Given the description of an element on the screen output the (x, y) to click on. 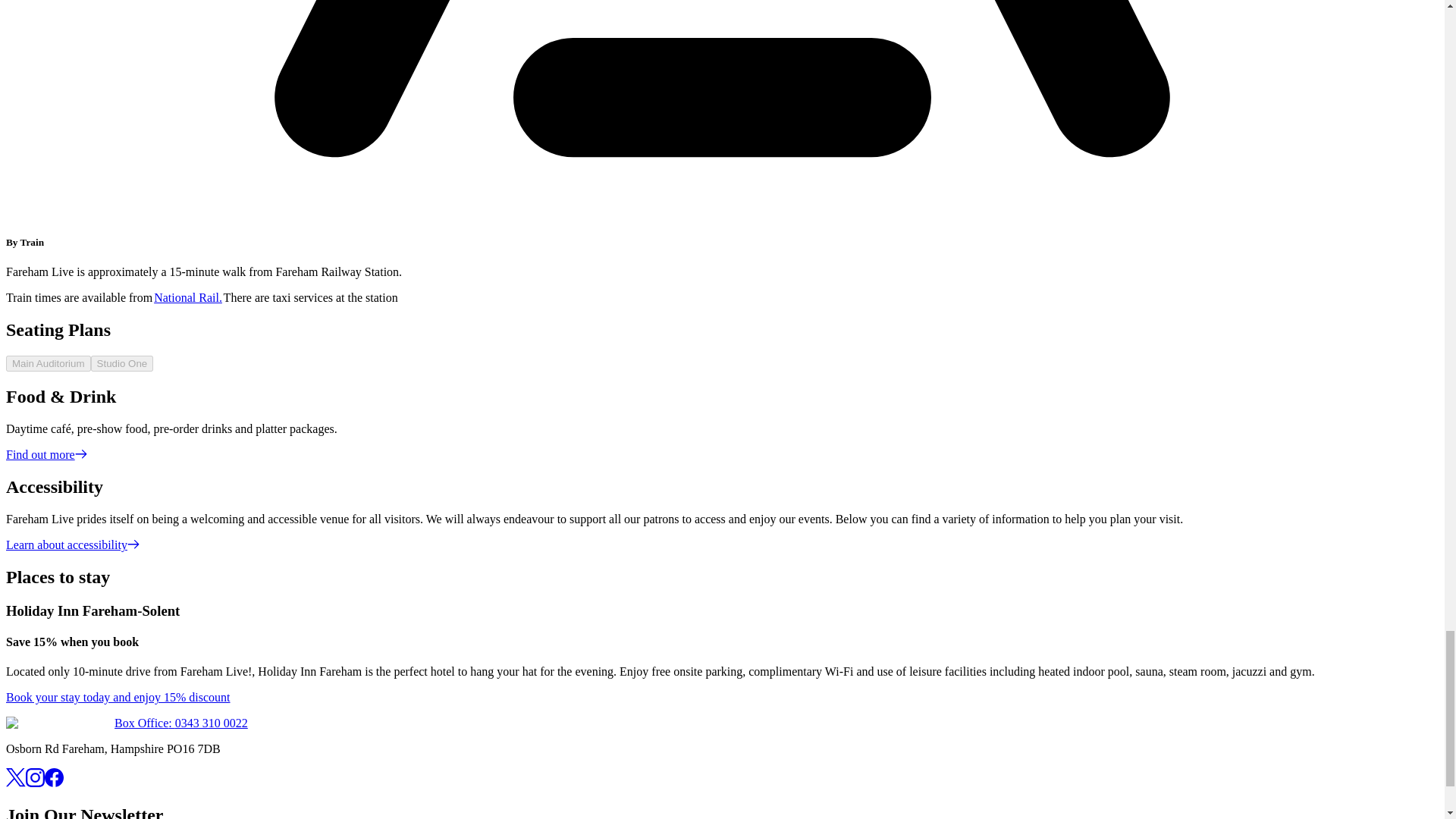
Main Auditorium (47, 363)
Box Office: 0343 310 0022 (181, 722)
National Rail. (188, 297)
Studio One (122, 363)
Instagram Icon (35, 782)
Instagram Icon (35, 777)
Facebook Icon (54, 782)
Learn about accessibility (72, 544)
X Icon (15, 777)
Find out more (46, 454)
X Icon (15, 782)
Facebook Icon (54, 777)
